Given the description of an element on the screen output the (x, y) to click on. 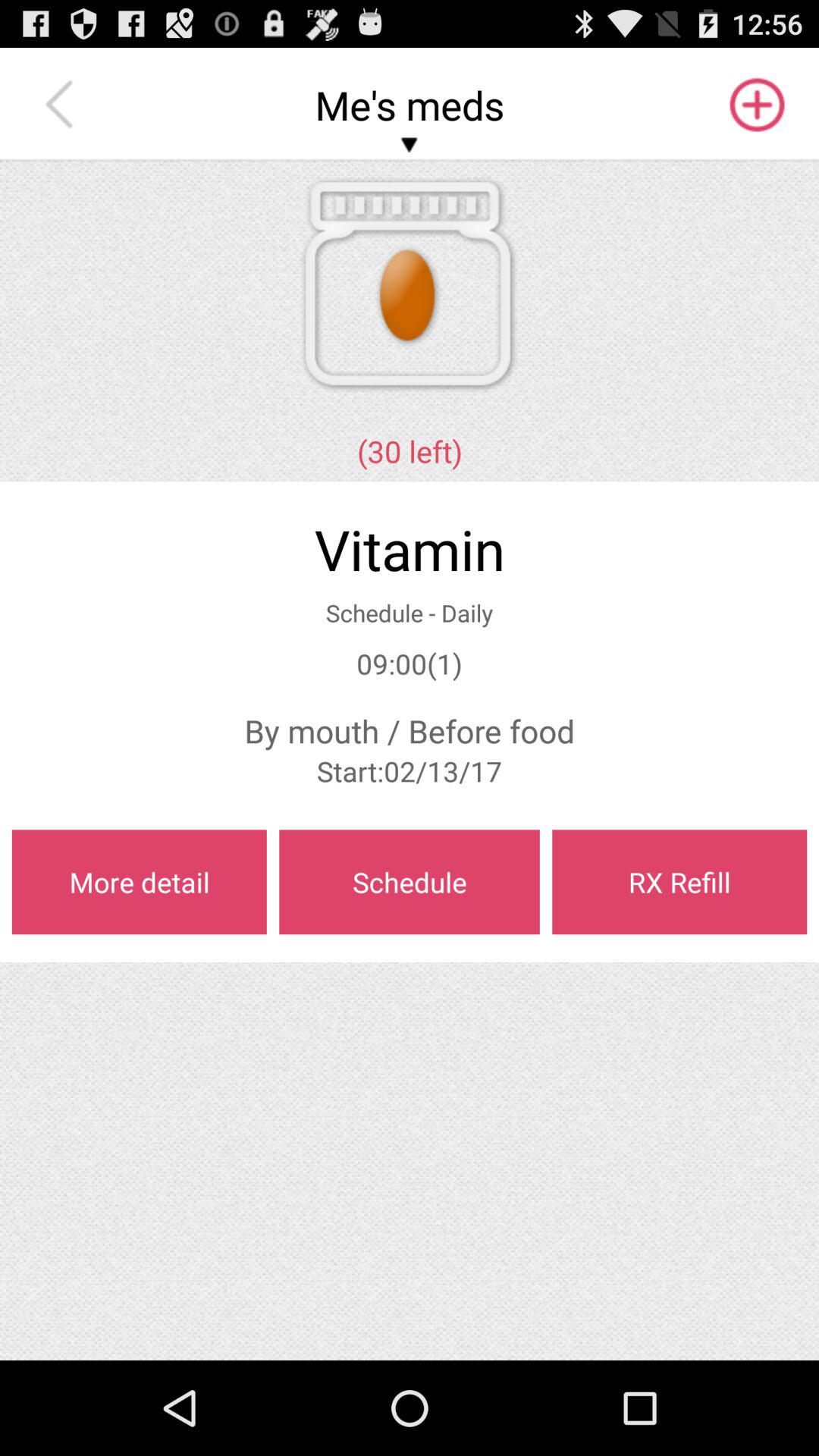
press the button to the left of the schedule button (138, 881)
